Given the description of an element on the screen output the (x, y) to click on. 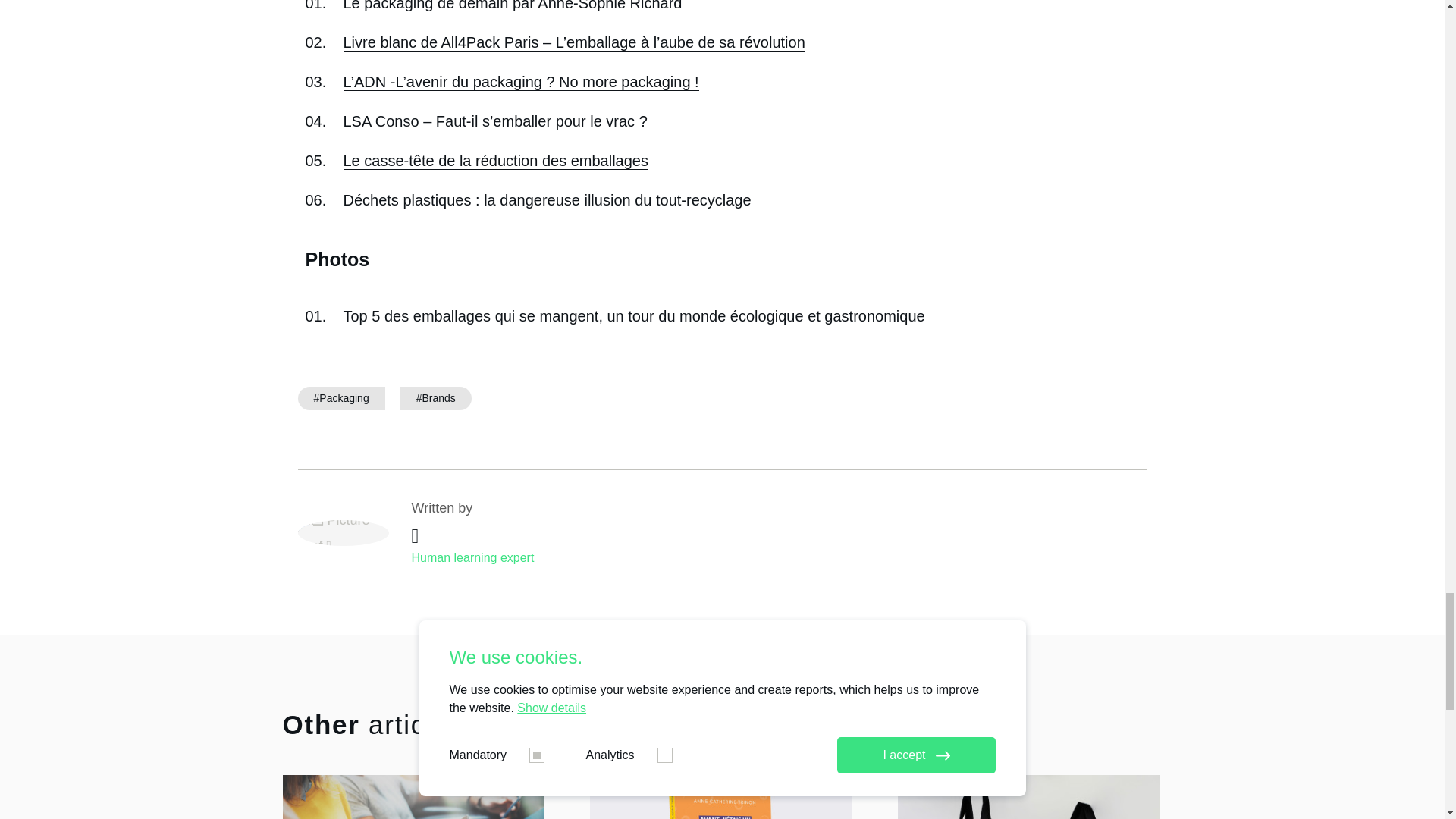
Read the entry (413, 796)
Read the entry (720, 796)
Read the entry (1029, 796)
